Given the description of an element on the screen output the (x, y) to click on. 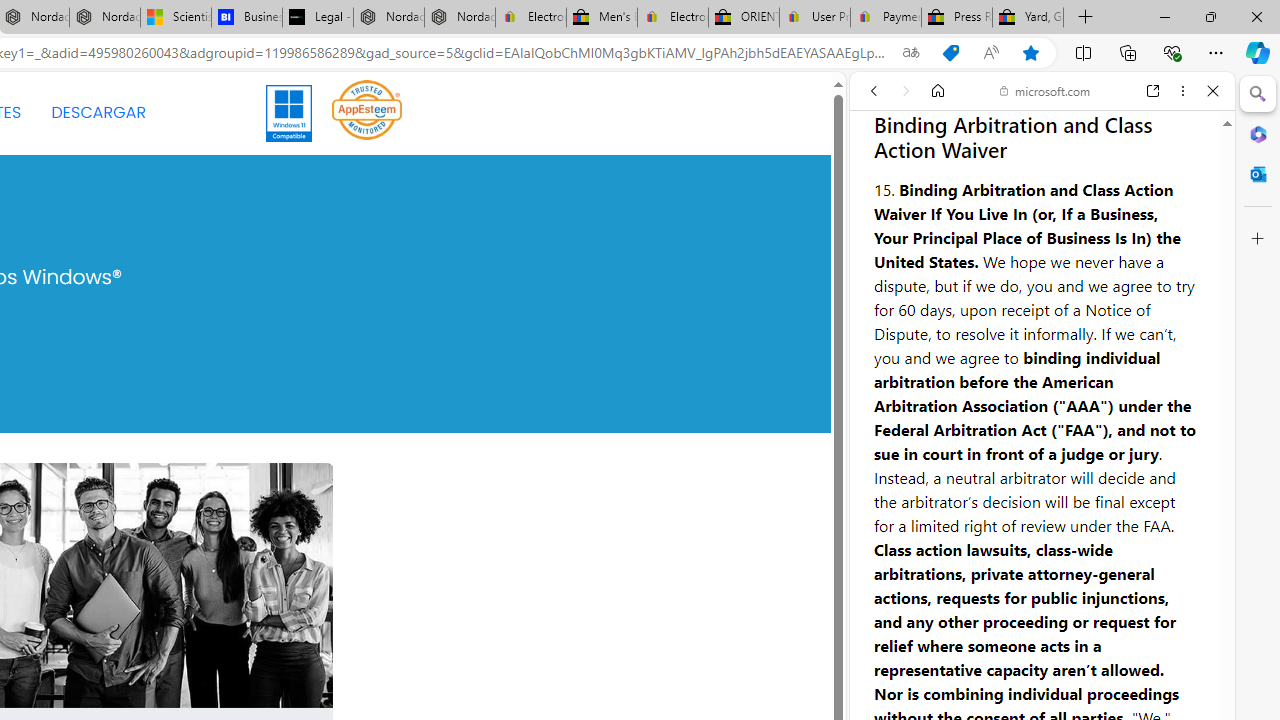
Web scope (882, 180)
Customize (1258, 239)
Search the web (1051, 137)
DESCARGAR (98, 112)
microsoft.com (1045, 90)
Yard, Garden & Outdoor Living (1028, 17)
Payments Terms of Use | eBay.com (886, 17)
App Esteem (367, 109)
App Esteem (367, 112)
